Given the description of an element on the screen output the (x, y) to click on. 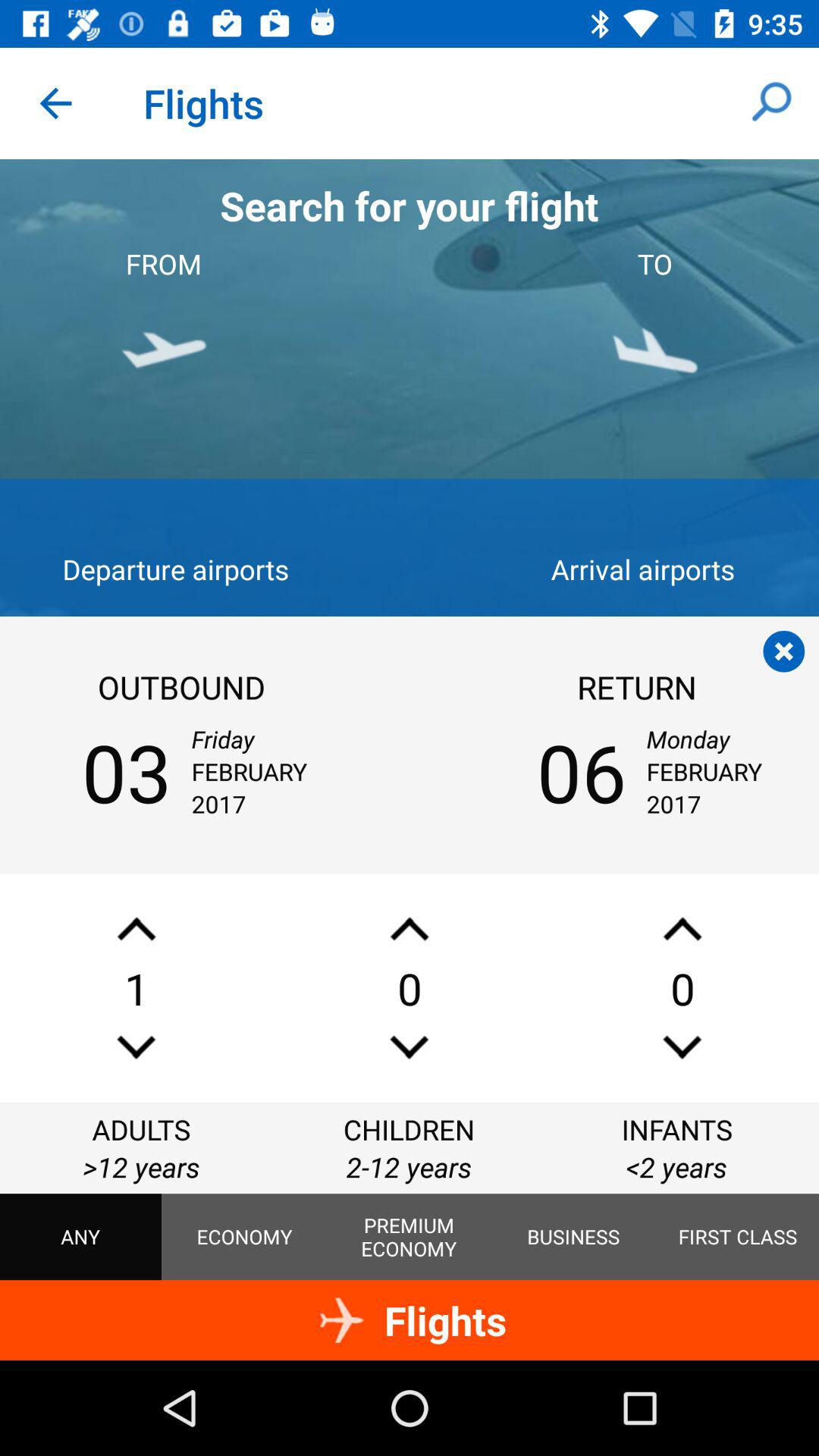
this button decreases the number of adults on my ticket (136, 1047)
